Given the description of an element on the screen output the (x, y) to click on. 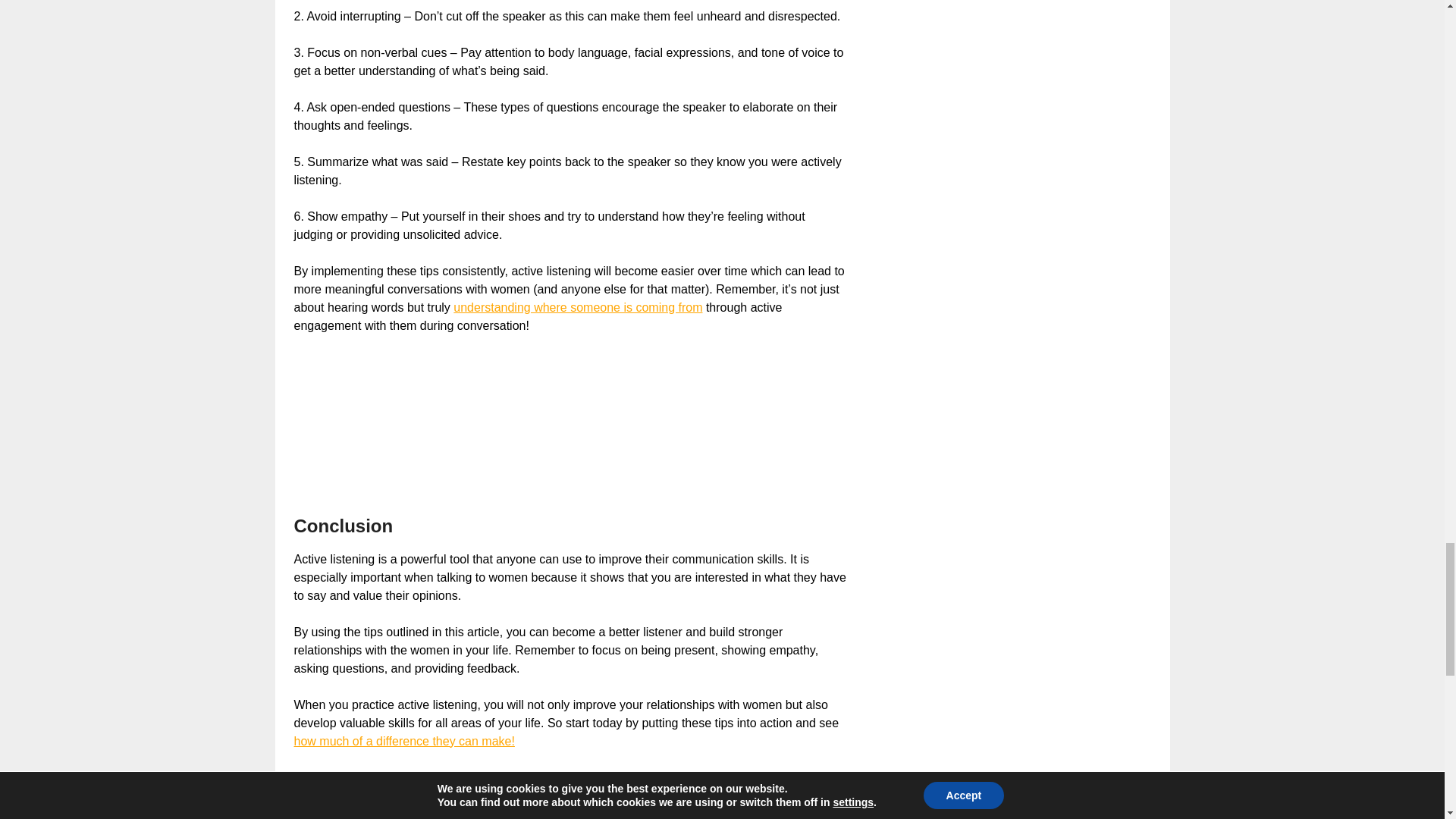
how much of a difference they can make! (404, 740)
understanding where someone is coming from (576, 307)
